Given the description of an element on the screen output the (x, y) to click on. 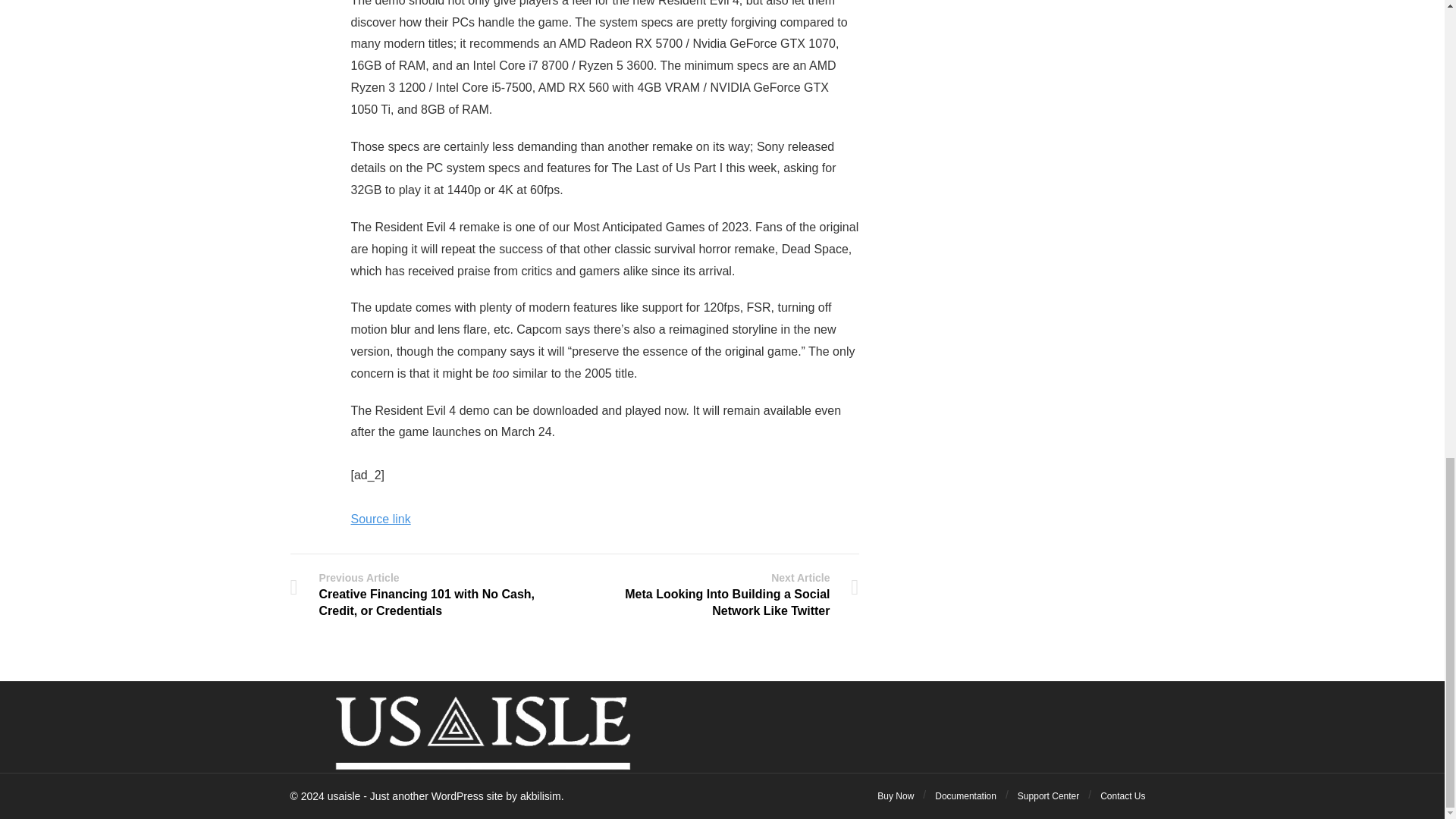
Source link (380, 518)
usaisle (344, 796)
akbilisim (539, 796)
Just another WordPress site (344, 796)
akbilisim (539, 796)
Buy Now (895, 796)
Contact Us (1122, 796)
Documentation (964, 796)
Support Center (1047, 796)
